Given the description of an element on the screen output the (x, y) to click on. 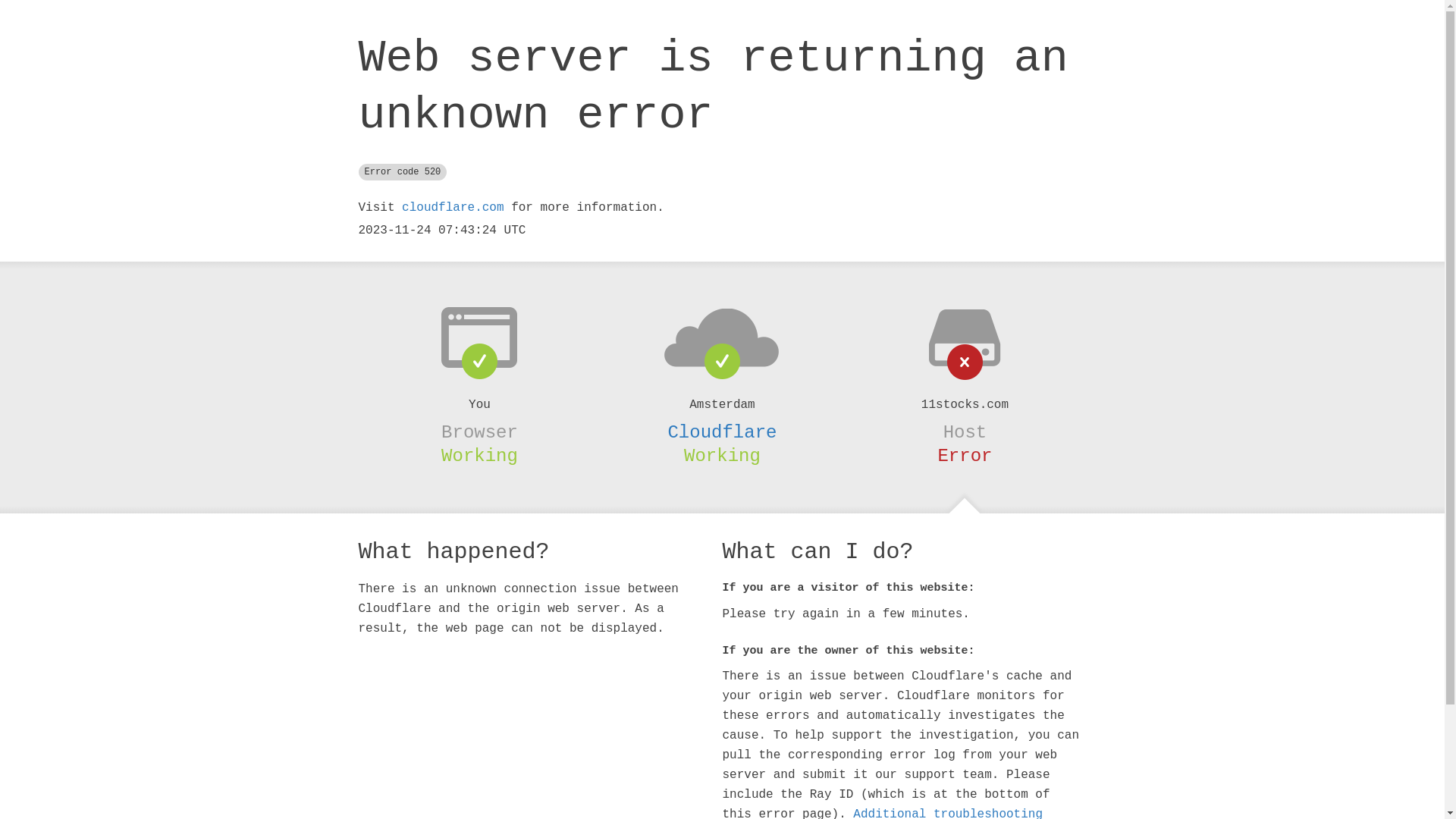
cloudflare.com Element type: text (452, 207)
Cloudflare Element type: text (721, 432)
